Given the description of an element on the screen output the (x, y) to click on. 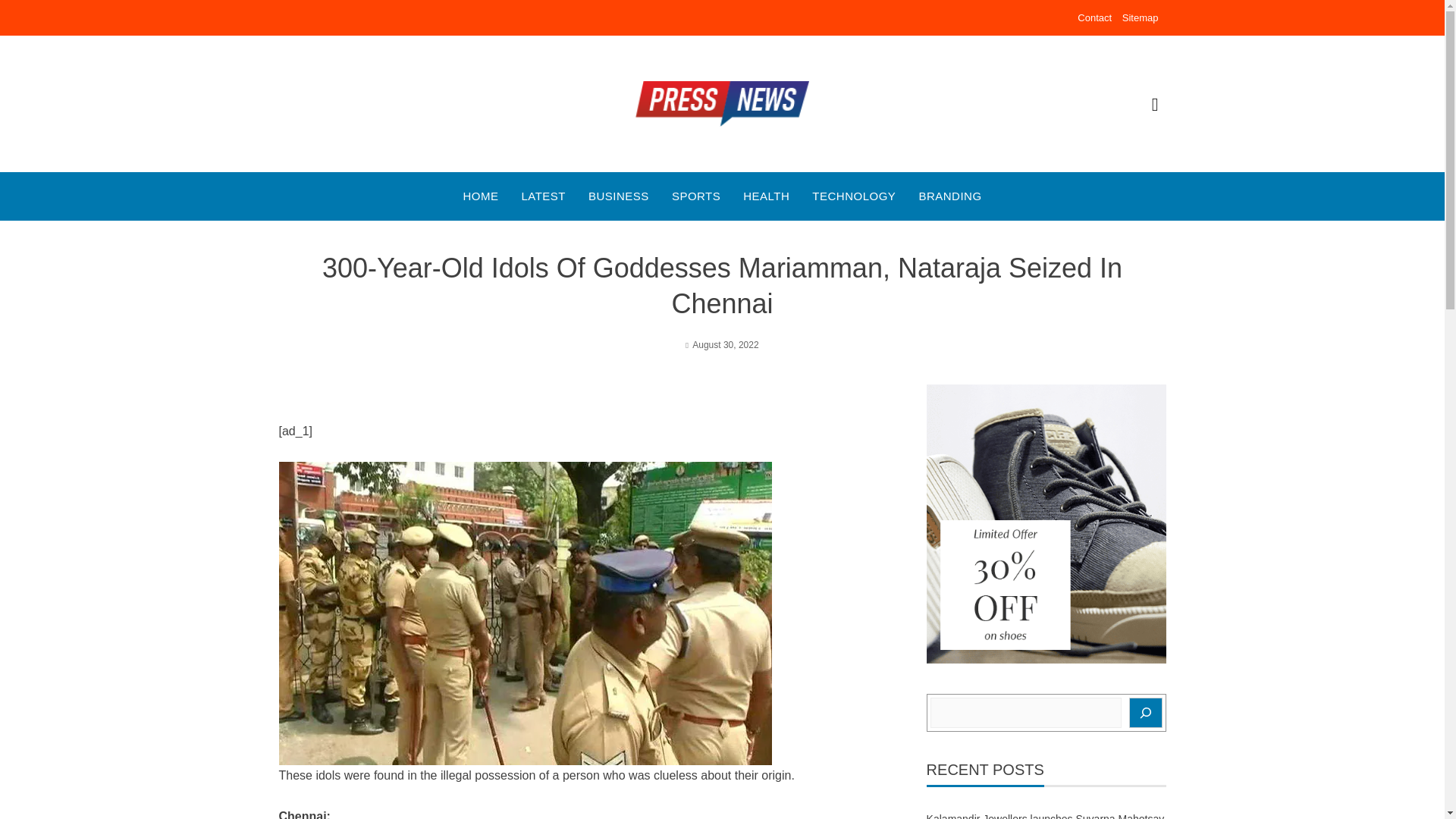
TECHNOLOGY (853, 196)
Sitemap (1140, 17)
SPORTS (695, 196)
HEALTH (765, 196)
BUSINESS (618, 196)
LATEST (543, 196)
BRANDING (949, 196)
HOME (480, 196)
Contact (1094, 17)
